Given the description of an element on the screen output the (x, y) to click on. 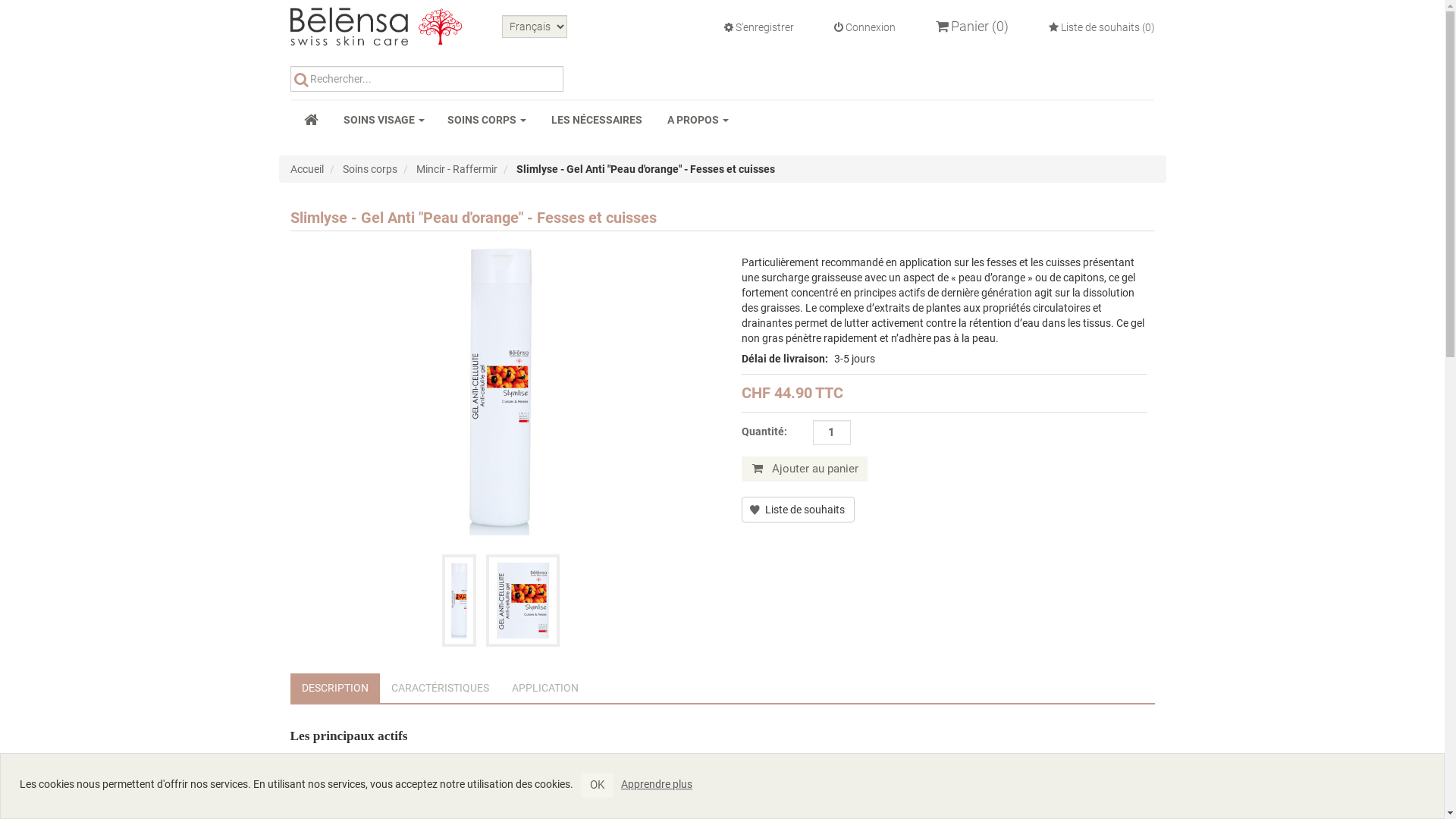
Liste de souhaits Element type: text (797, 509)
Soins corps Element type: text (369, 169)
S'enregistrer Element type: text (757, 27)
DESCRIPTION Element type: text (334, 688)
SOINS VISAGE Element type: text (384, 119)
Connexion Element type: text (864, 27)
Accueil Element type: text (306, 169)
Apprendre plus Element type: text (656, 781)
Ajouter au panier Element type: text (804, 468)
APPLICATION Element type: text (544, 688)
A PROPOS Element type: text (697, 119)
Liste de souhaits (0) Element type: text (1100, 27)
Panier (0) Element type: text (972, 26)
Mincir - Raffermir Element type: text (455, 169)
SOINS CORPS Element type: text (486, 119)
